Given the description of an element on the screen output the (x, y) to click on. 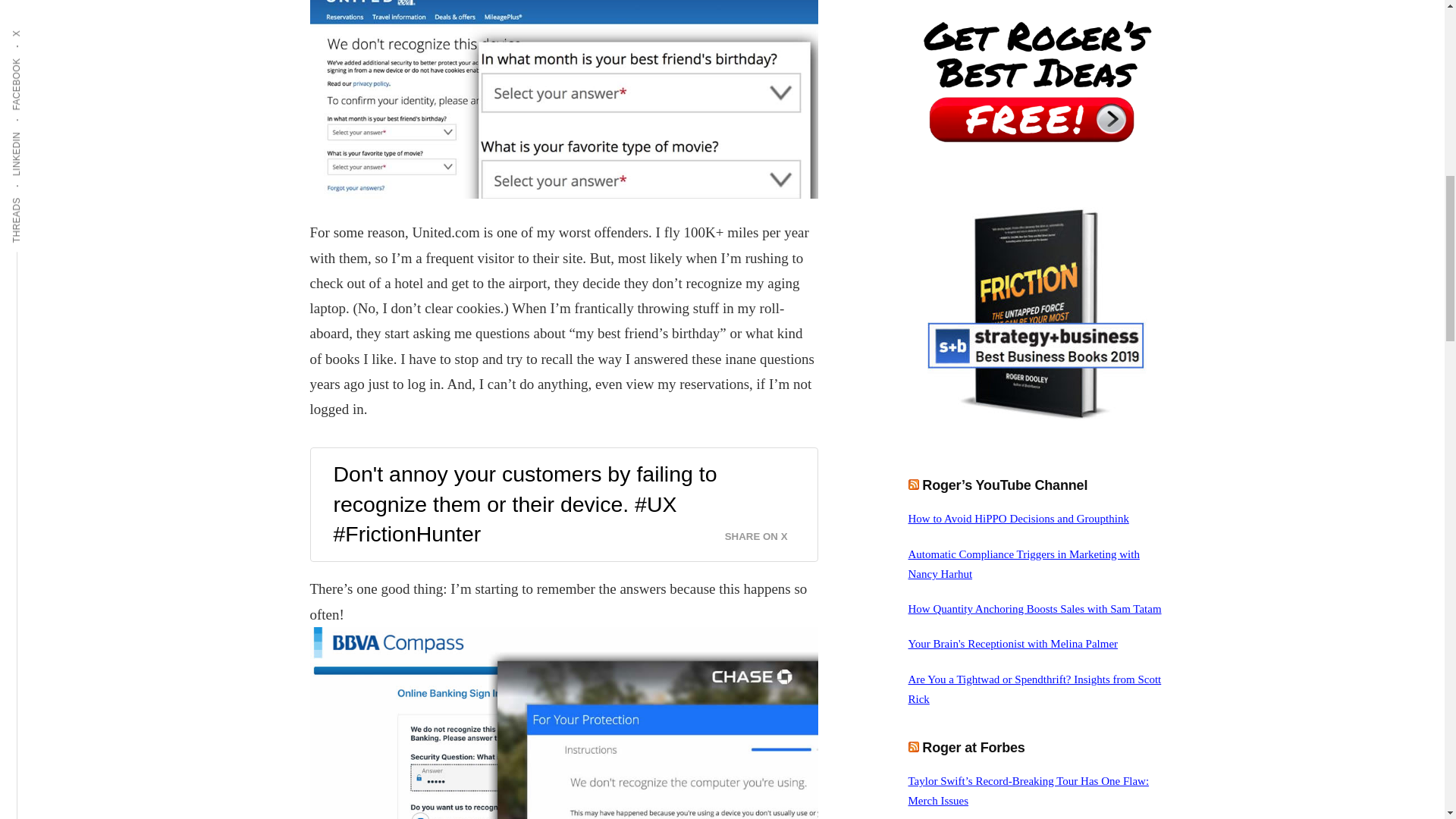
SHARE ON X (765, 532)
